Given the description of an element on the screen output the (x, y) to click on. 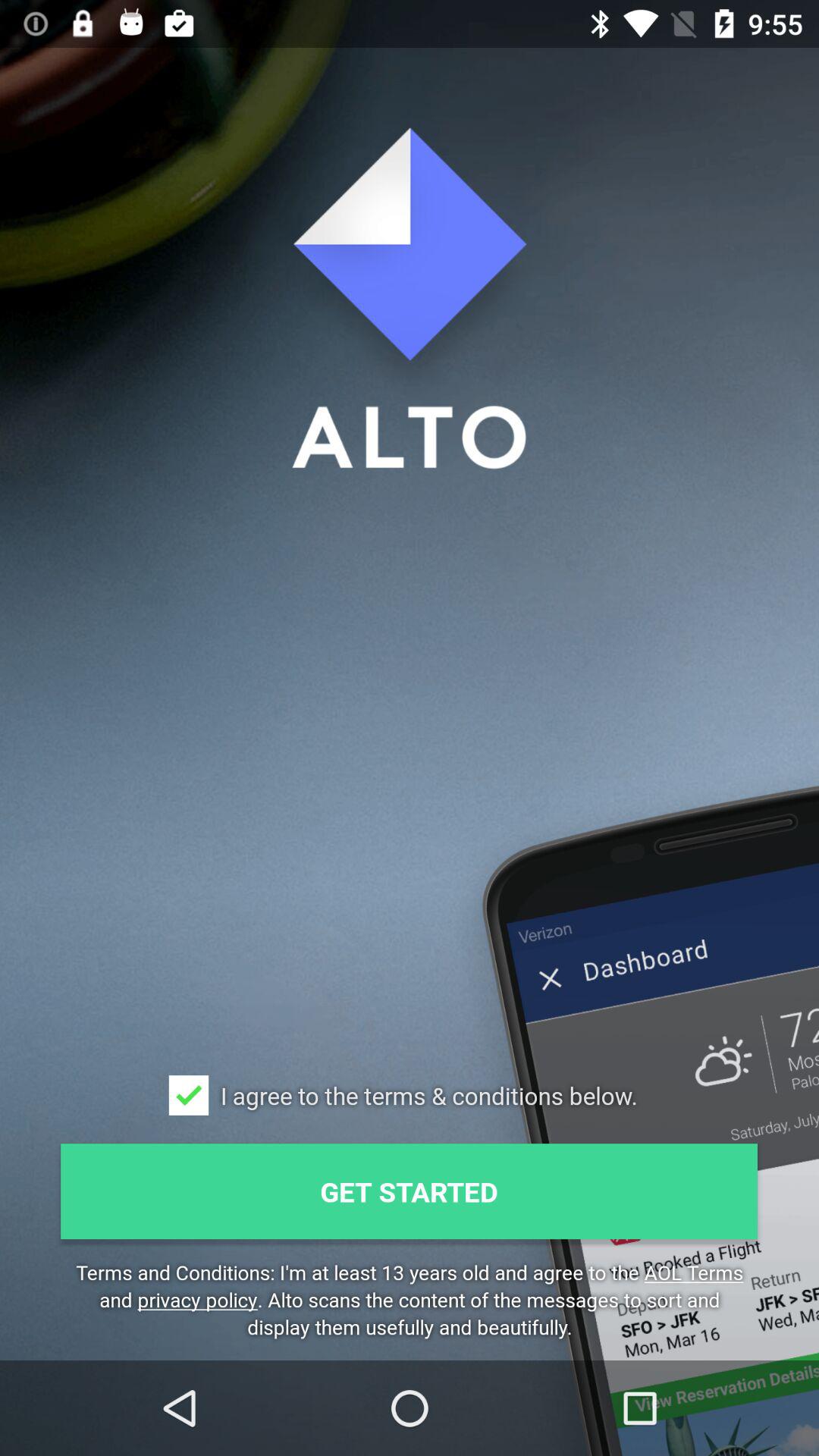
press the item to the left of i agree to item (188, 1095)
